Given the description of an element on the screen output the (x, y) to click on. 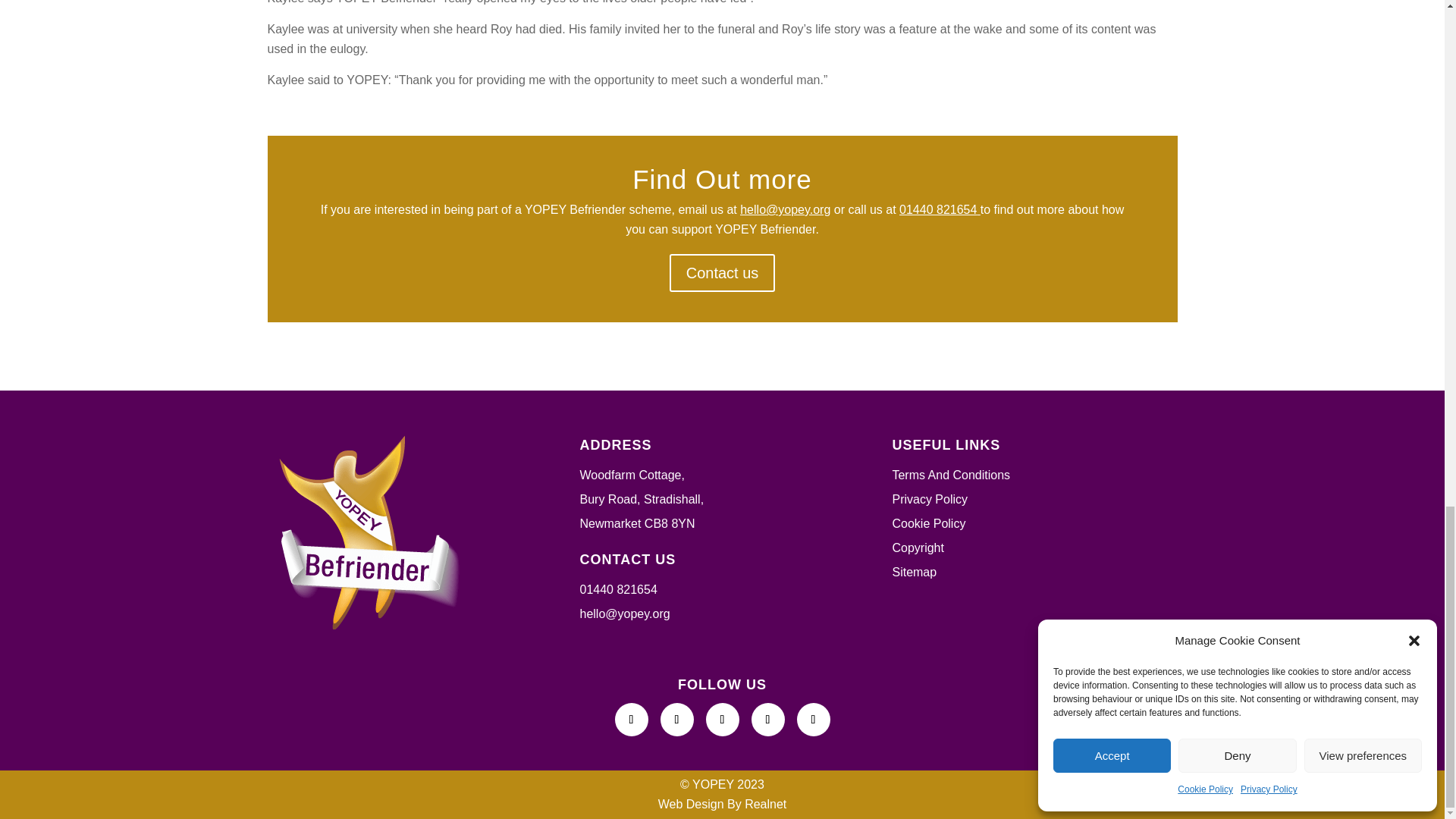
Follow on Youtube (767, 719)
Follow on Facebook (630, 719)
Follow on Instagram (812, 719)
Follow on LinkedIn (721, 719)
logo (363, 531)
Follow on X (676, 719)
